Given the description of an element on the screen output the (x, y) to click on. 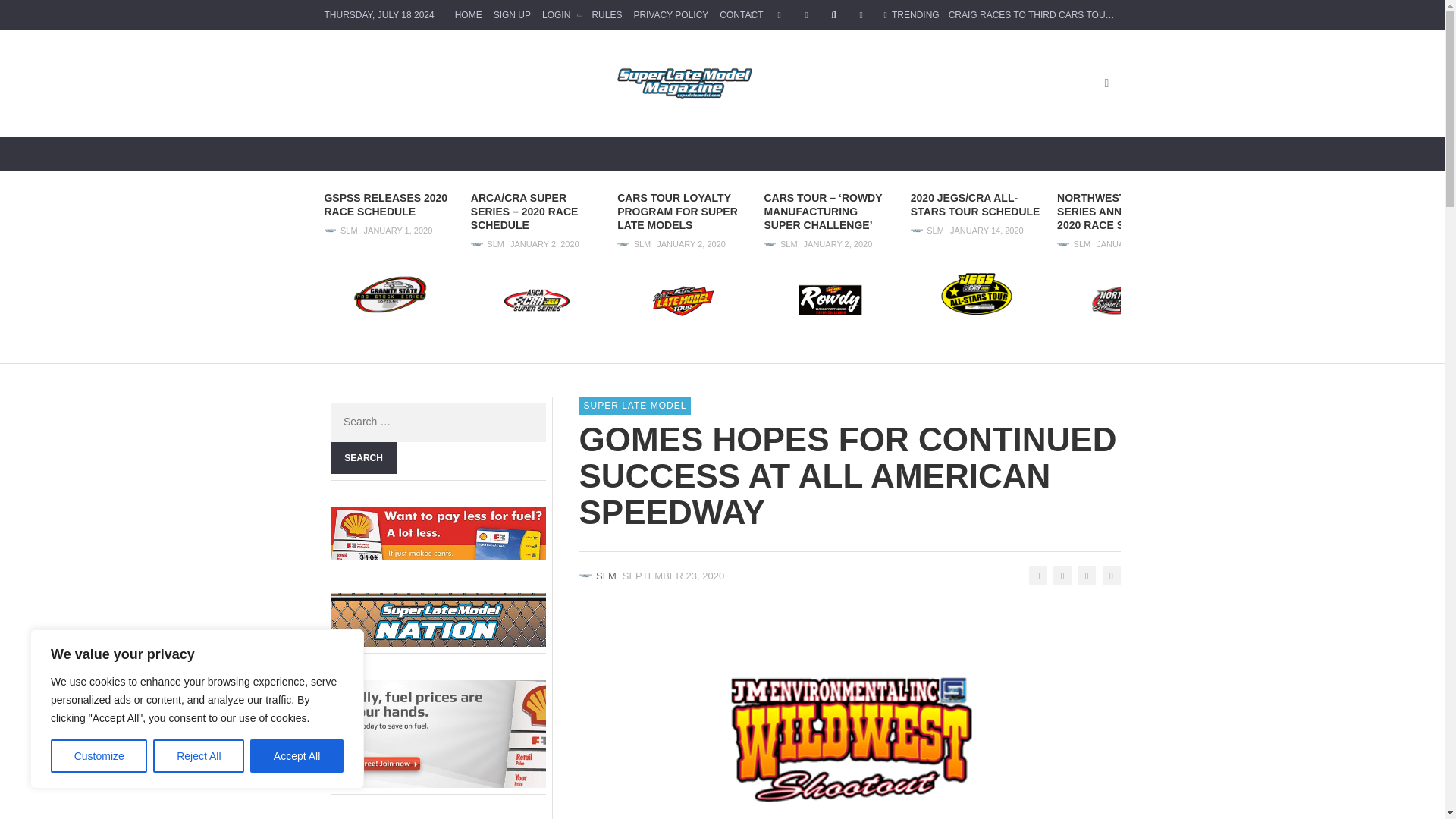
Search (363, 458)
Reject All (198, 756)
LOGIN (561, 15)
CONTACT (741, 15)
HOME (467, 15)
PRIVACY POLICY (670, 15)
RULES (606, 15)
Customize (98, 756)
Search (363, 458)
SIGN UP (511, 15)
Accept All (296, 756)
CRAIG RACES TO THIRD CARS TOUR SUPER LATE MODEL WIN OF 2020 (1106, 14)
